Given the description of an element on the screen output the (x, y) to click on. 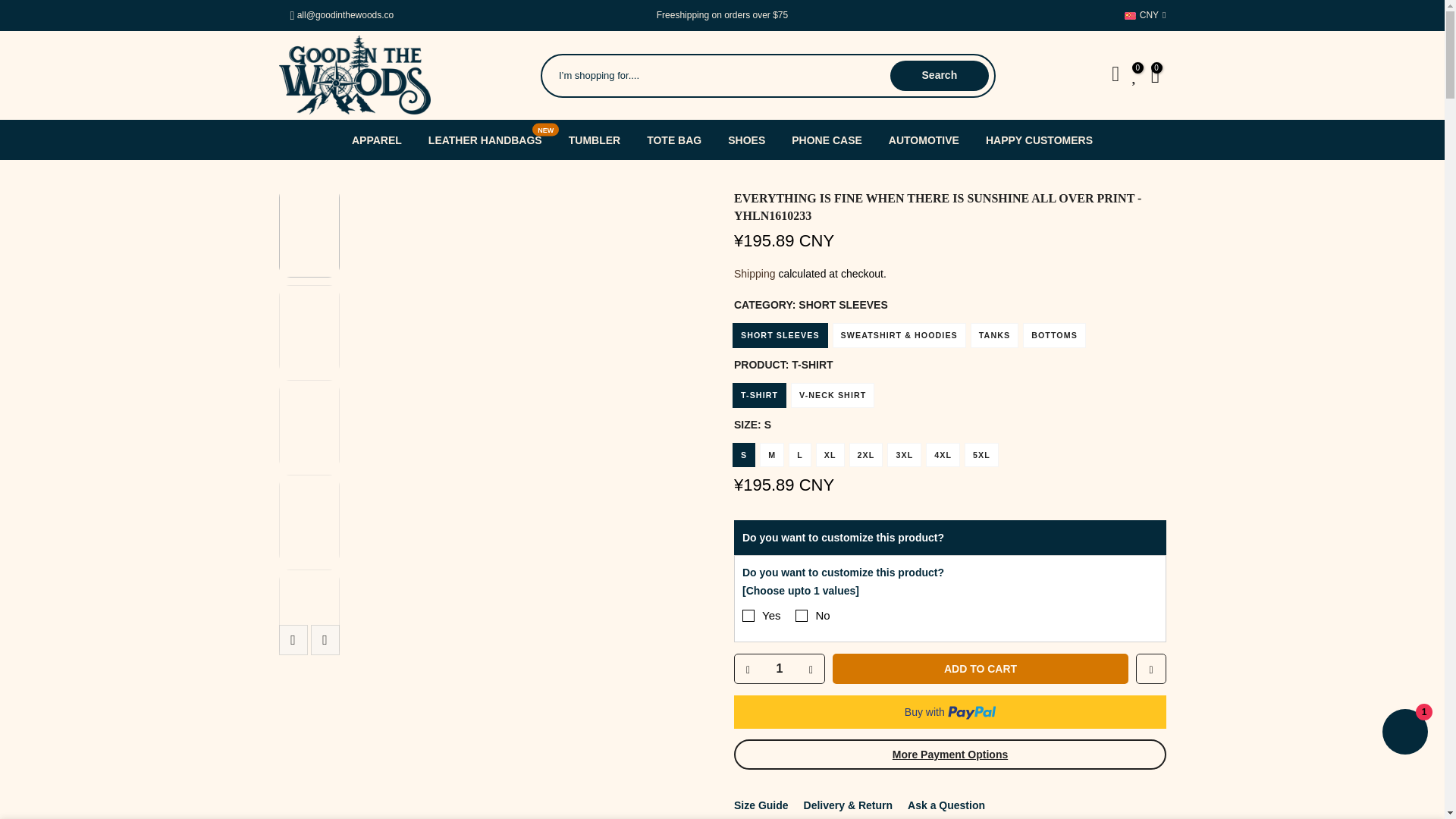
Size Guide (761, 805)
AUTOMOTIVE (923, 139)
APPAREL (375, 139)
Search (938, 75)
TOTE BAG (673, 139)
TUMBLER (593, 139)
ADD TO CART (980, 668)
HAPPY CUSTOMERS (1038, 139)
1 (778, 668)
More Payment Options (949, 754)
Ask a Question (946, 805)
Shipping (754, 273)
Shopify online store chat (1404, 733)
SHOES (746, 139)
